Given the description of an element on the screen output the (x, y) to click on. 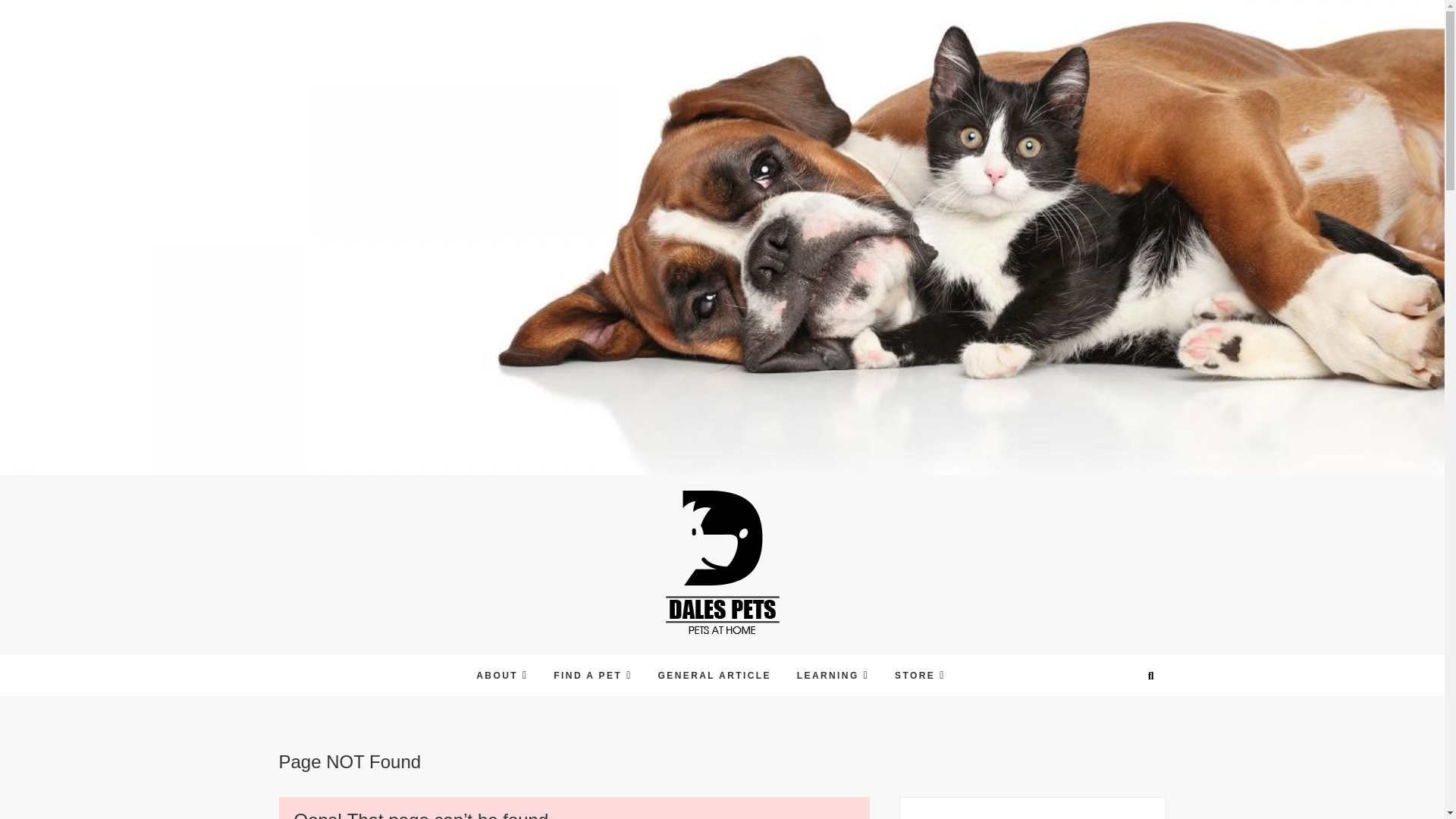
Dales Pets (617, 657)
GENERAL ARTICLE (714, 676)
LEARNING (833, 675)
ABOUT (501, 675)
Dales Pets (617, 657)
FIND A PET (592, 675)
STORE (919, 675)
